Given the description of an element on the screen output the (x, y) to click on. 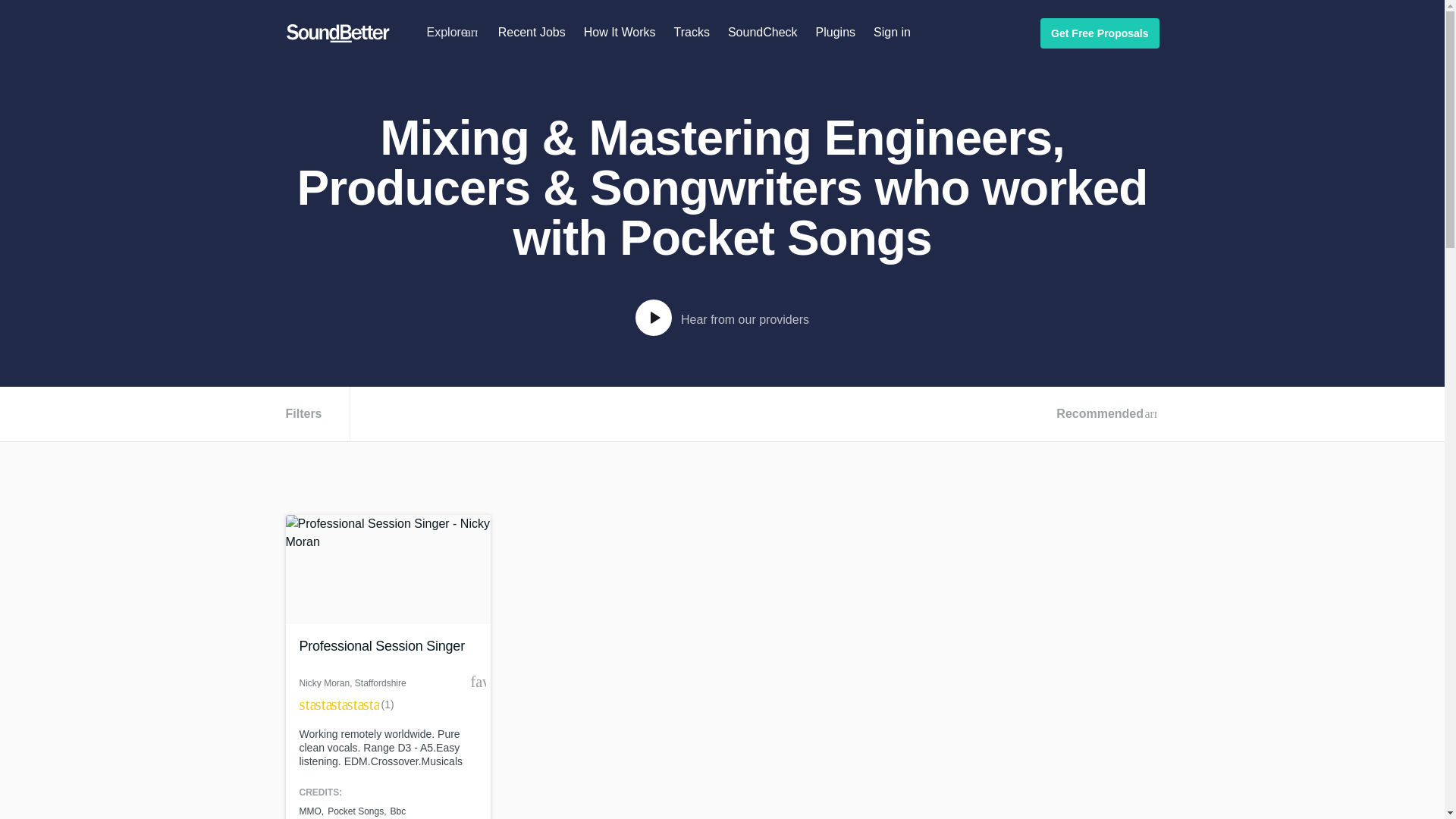
SoundBetter (337, 33)
